Given the description of an element on the screen output the (x, y) to click on. 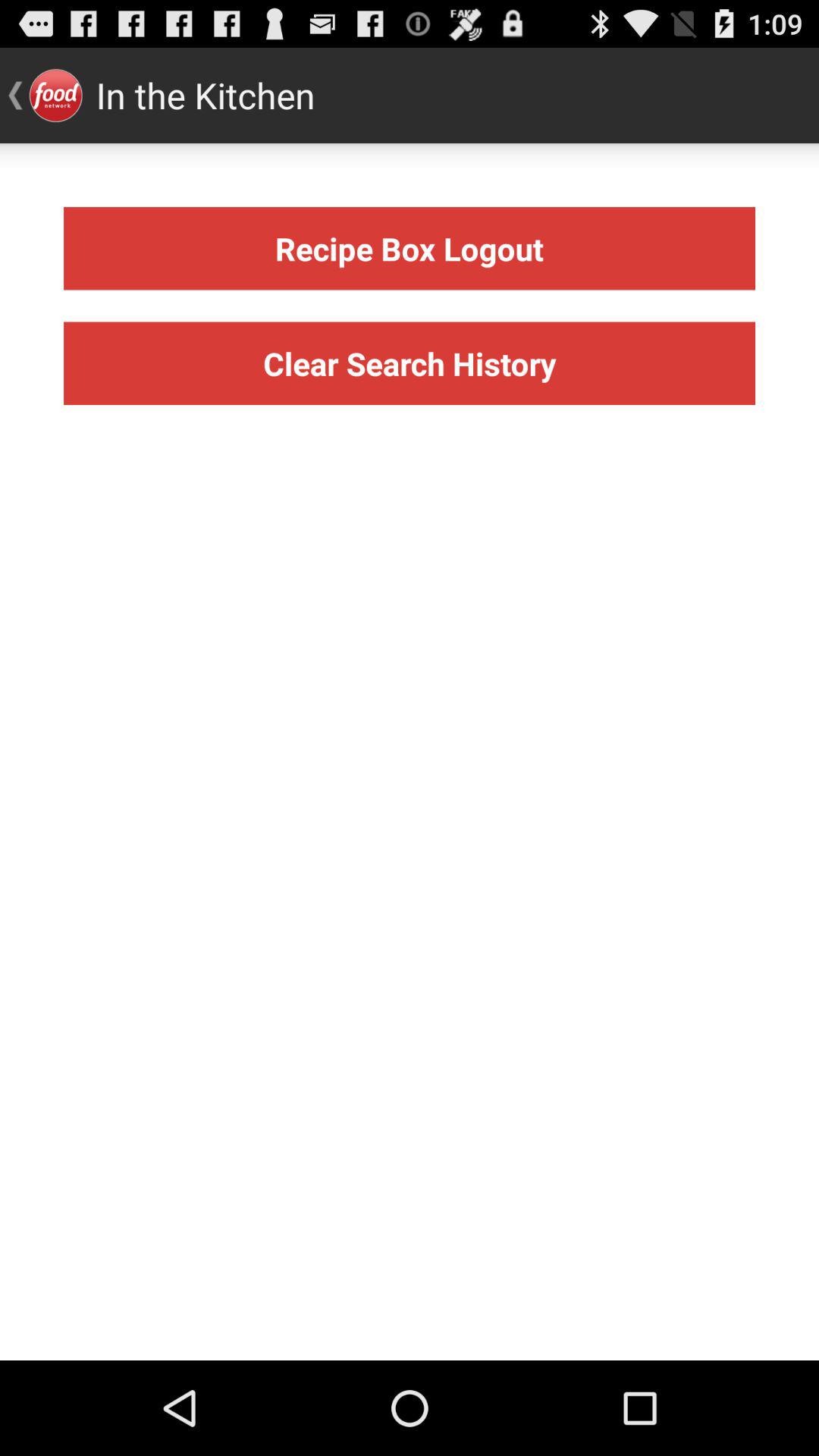
press recipe box logout icon (409, 248)
